Given the description of an element on the screen output the (x, y) to click on. 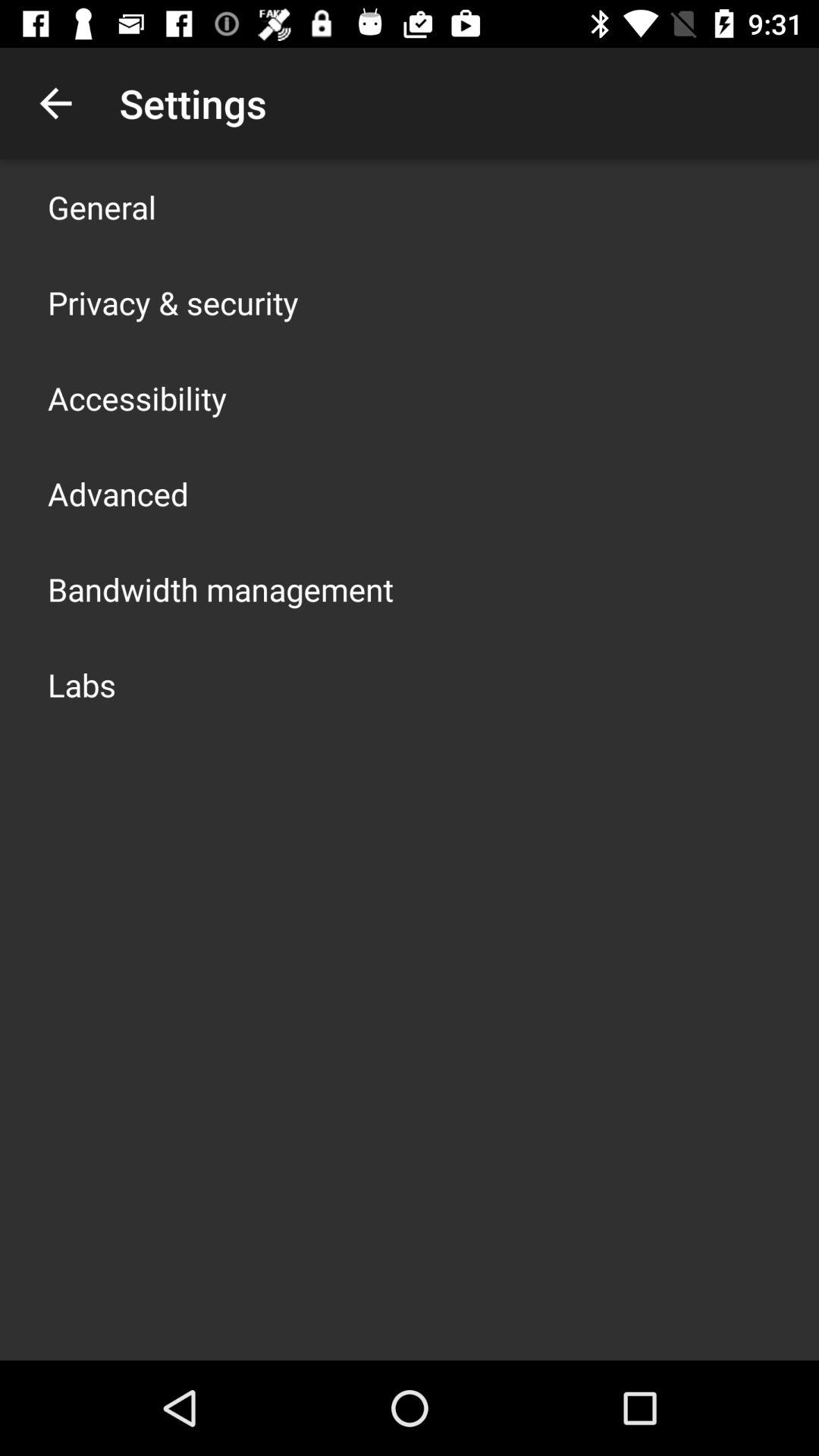
turn off the general app (101, 206)
